Given the description of an element on the screen output the (x, y) to click on. 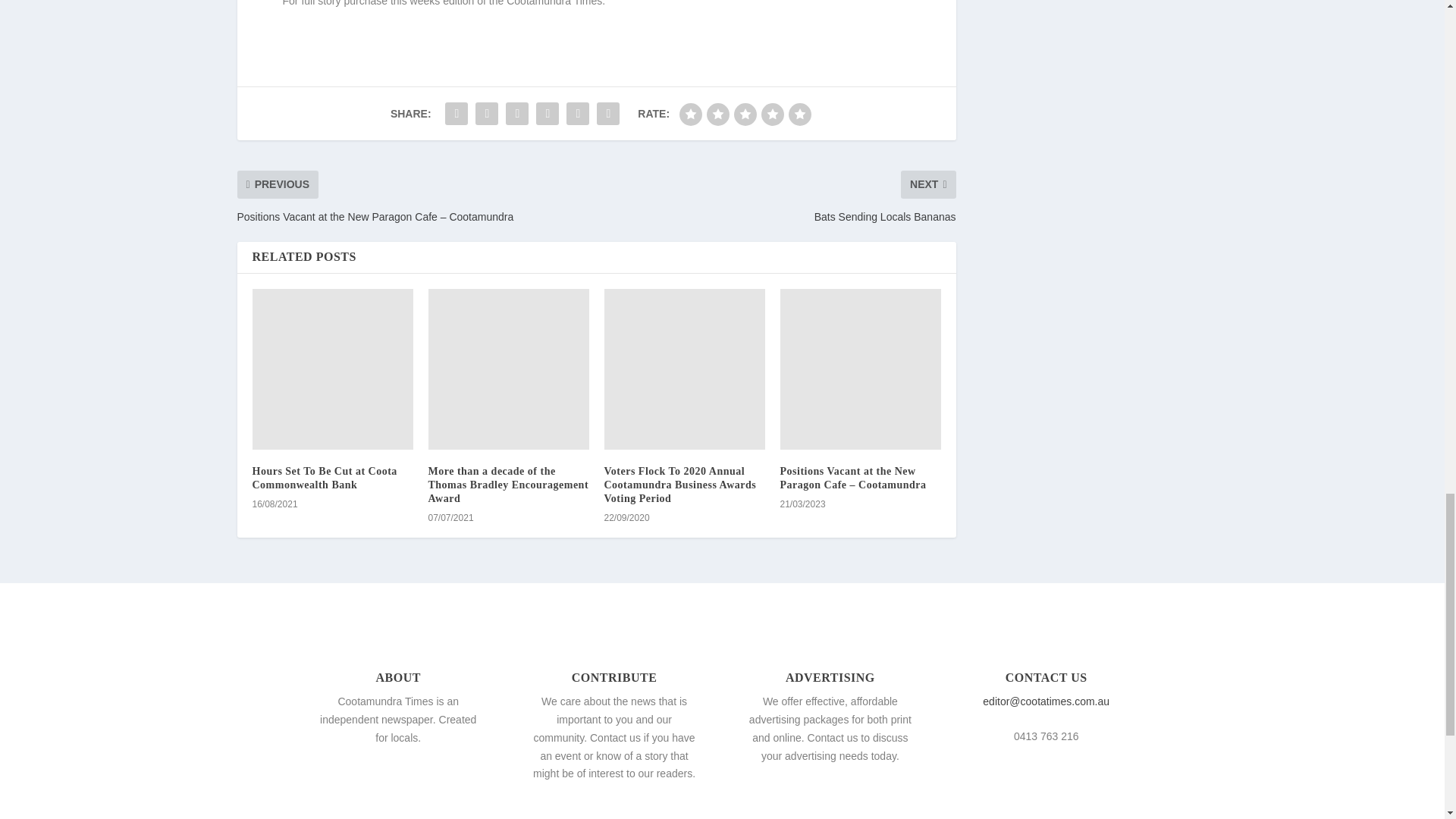
poor (717, 114)
bad (690, 114)
good (772, 114)
More than a decade of the Thomas Bradley Encouragement Award (508, 485)
gorgeous (799, 114)
Hours Set To Be Cut at Coota Commonwealth Bank (331, 369)
